Given the description of an element on the screen output the (x, y) to click on. 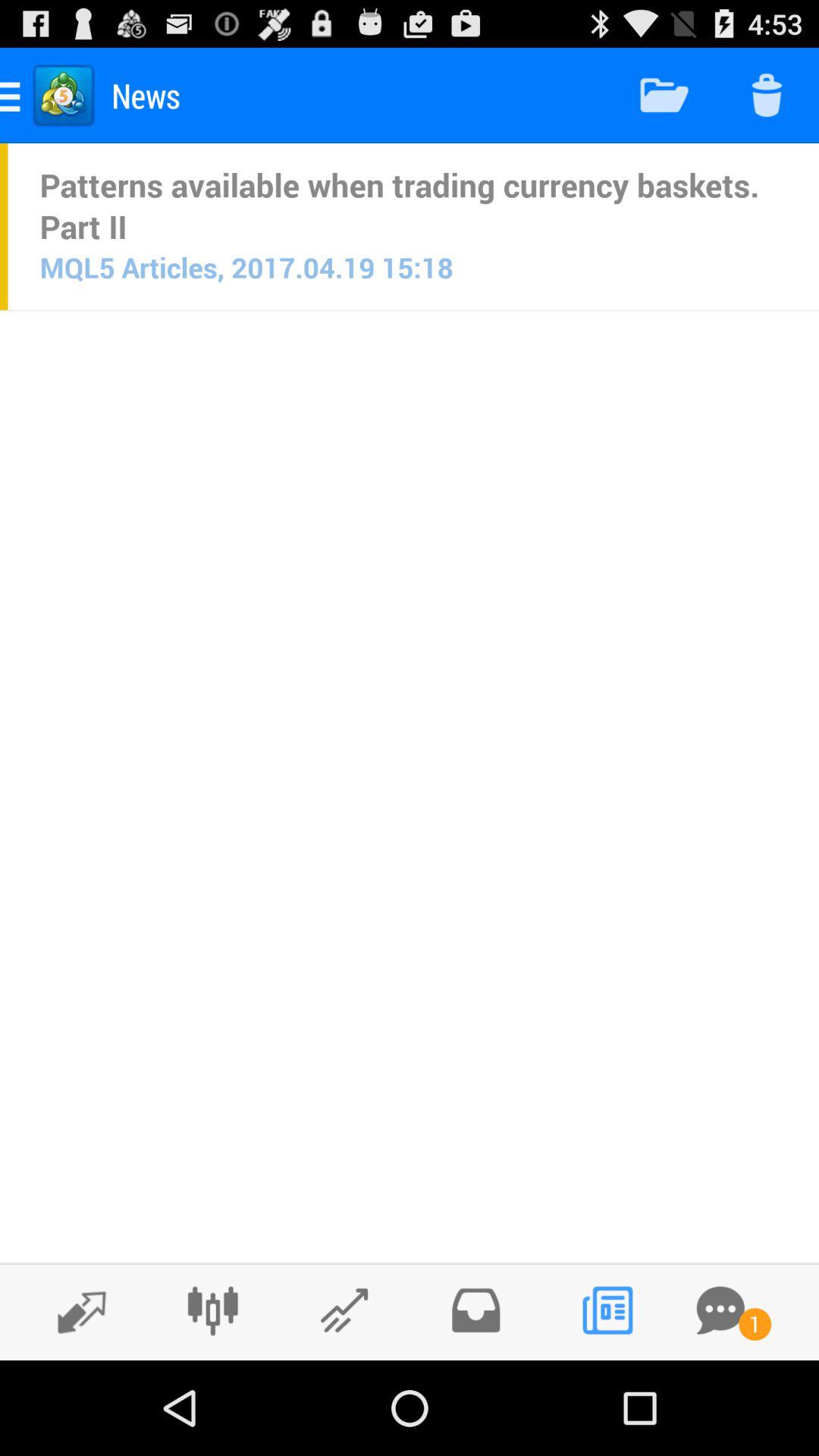
tap the mql5 articles 2017 icon (246, 267)
